Given the description of an element on the screen output the (x, y) to click on. 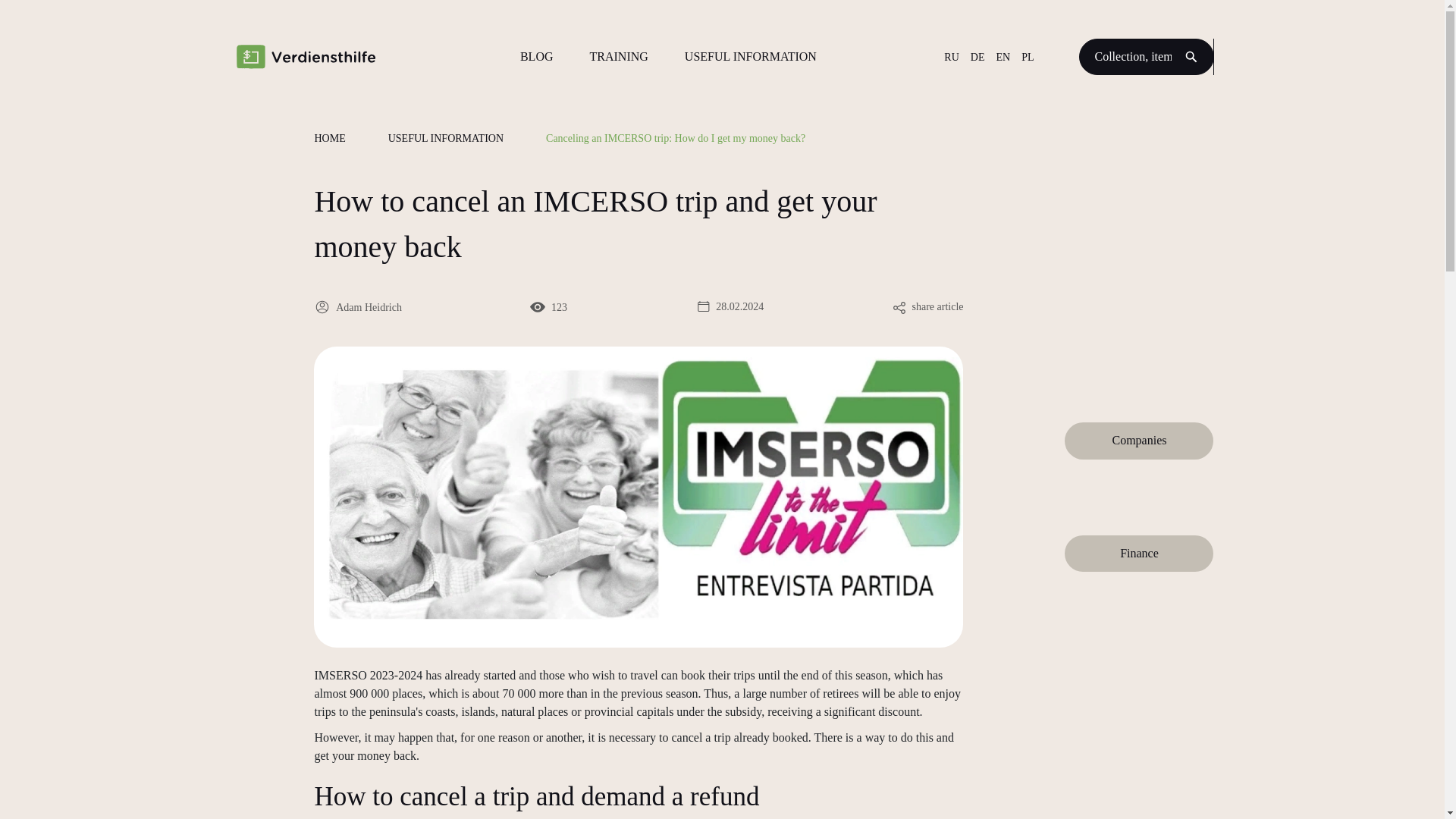
RU (950, 56)
USEFUL INFORMATION (445, 138)
Share share article (927, 306)
HOME (329, 138)
DE (978, 56)
EN (1002, 56)
Companies (1138, 440)
HOME (329, 138)
Watched (536, 306)
TRAINING (618, 56)
Finance (1138, 553)
Share (899, 307)
USEFUL INFORMATION (750, 56)
Open Menu (1191, 56)
